Given the description of an element on the screen output the (x, y) to click on. 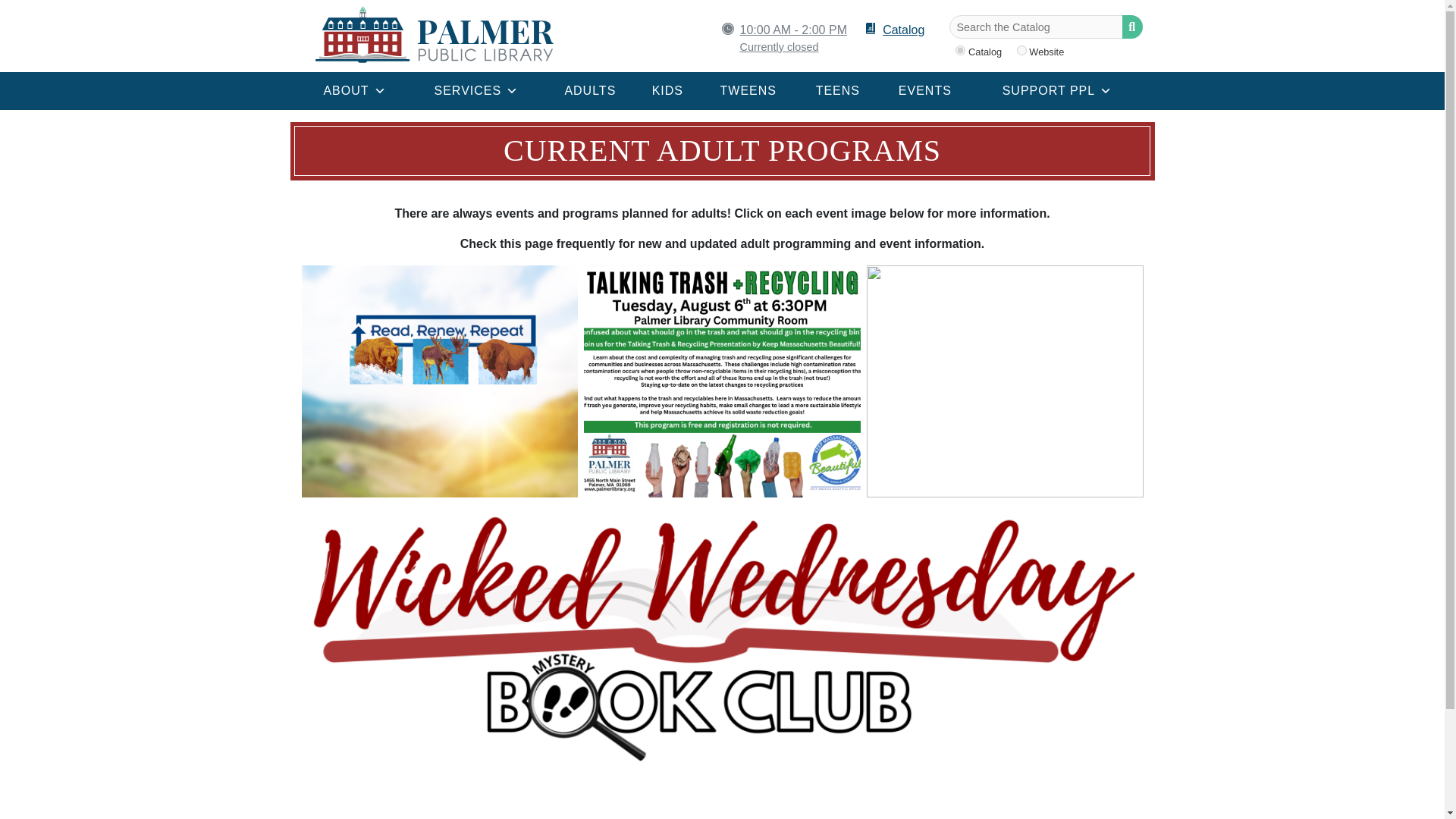
SERVICES (475, 90)
Catalog (895, 30)
on (960, 50)
Currently closed (793, 47)
Catalog (895, 30)
ABOUT (355, 90)
on (1021, 50)
